Given the description of an element on the screen output the (x, y) to click on. 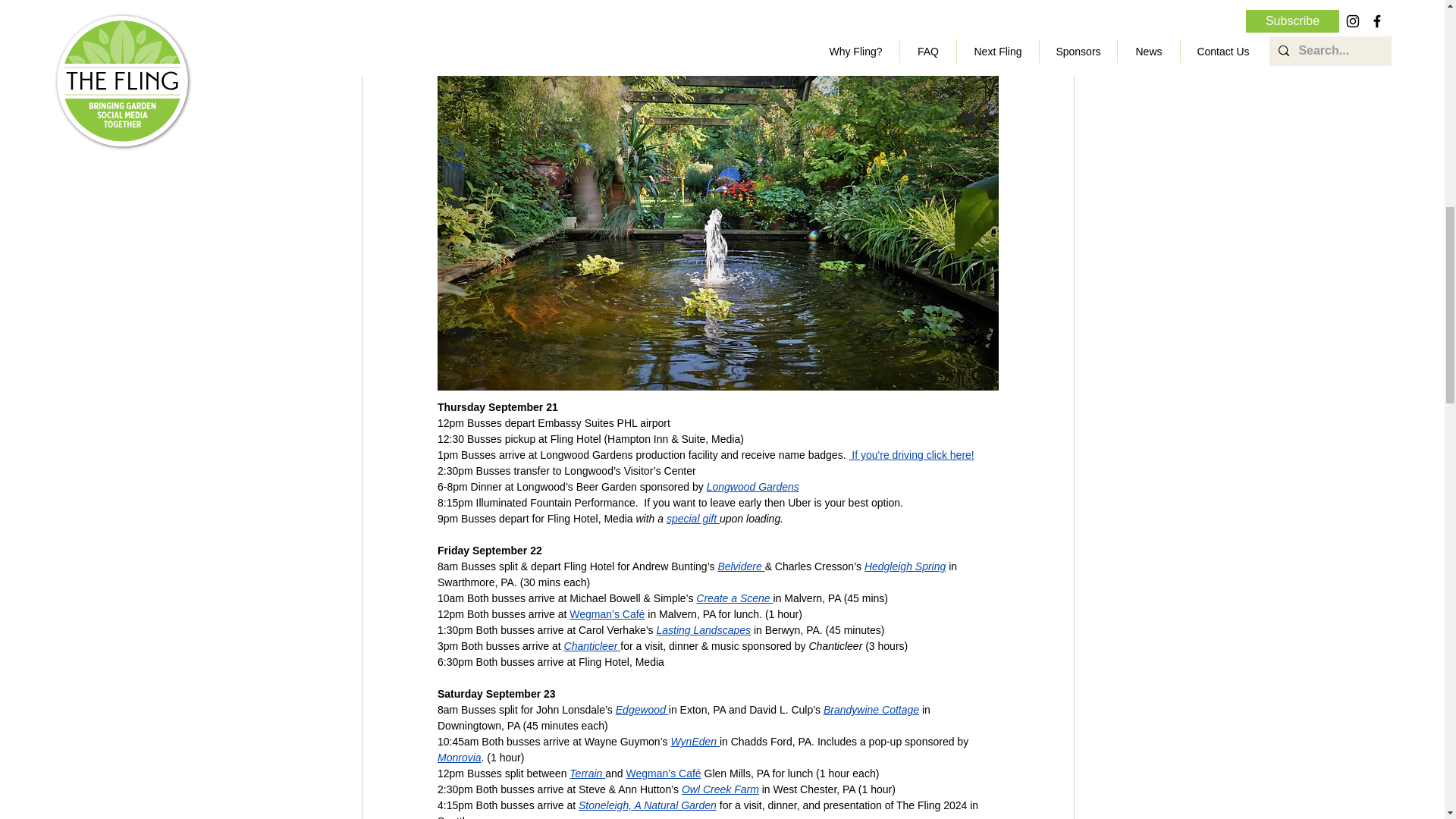
Create a Scene  (734, 598)
 If you're driving click here! (911, 454)
Edgewood (639, 709)
Lasting Landscapes (703, 630)
Monrovia (458, 757)
Belvidere (739, 566)
WynEden (692, 741)
special gift  (692, 518)
Brandywine Cottage (870, 709)
Longwood Gardens (751, 486)
